Given the description of an element on the screen output the (x, y) to click on. 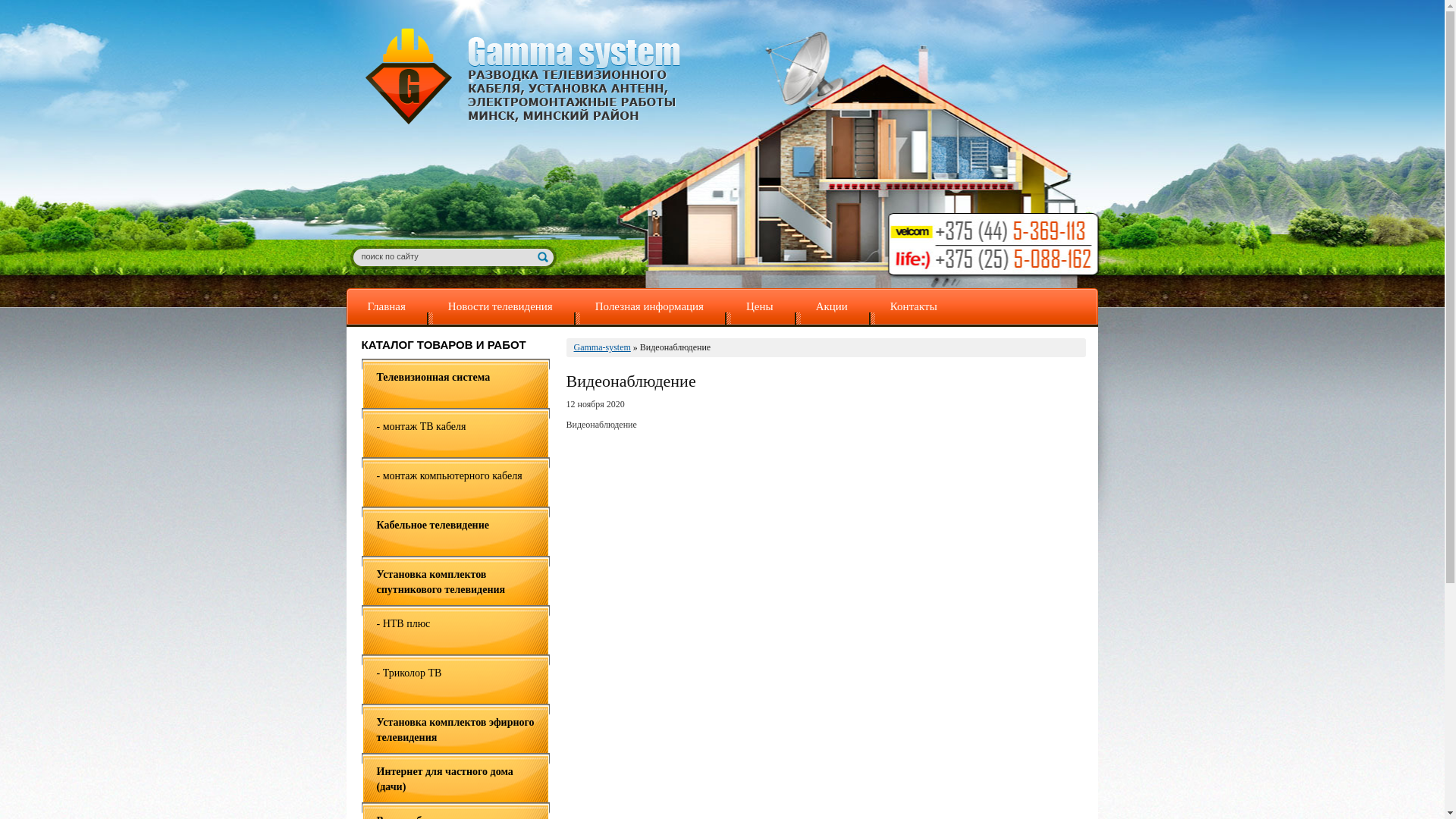
Gamma-system Element type: text (601, 347)
